Given the description of an element on the screen output the (x, y) to click on. 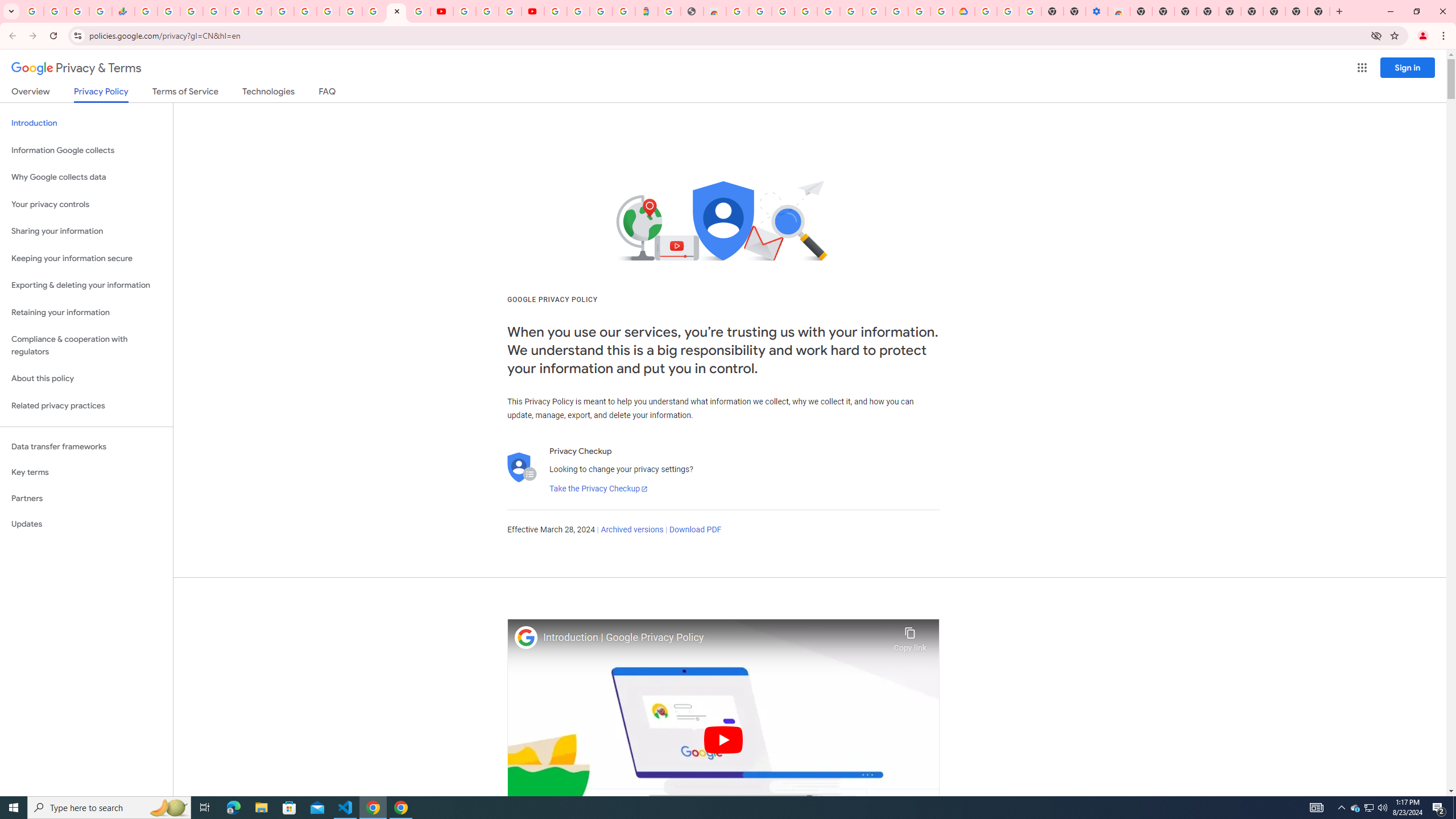
YouTube (464, 11)
Introduction (86, 122)
Compliance & cooperation with regulators (86, 345)
Reload (52, 35)
Sign in - Google Accounts (828, 11)
FAQ (327, 93)
Keeping your information secure (86, 258)
Technologies (268, 93)
Data transfer frameworks (86, 446)
View site information (77, 35)
New Tab (1141, 11)
Browse the Google Chrome Community - Google Chrome Community (942, 11)
